Given the description of an element on the screen output the (x, y) to click on. 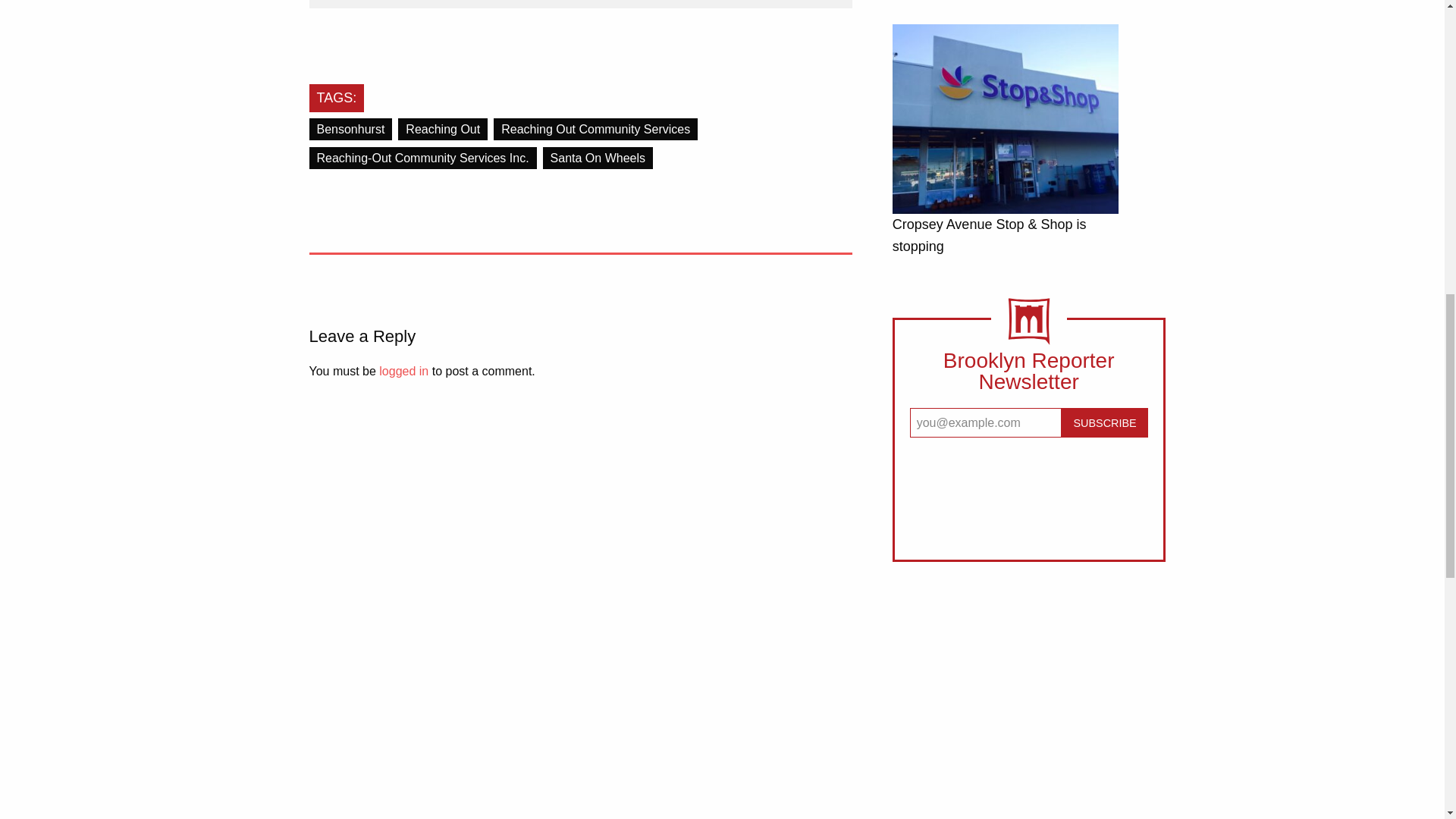
Subscribe (1104, 422)
